Given the description of an element on the screen output the (x, y) to click on. 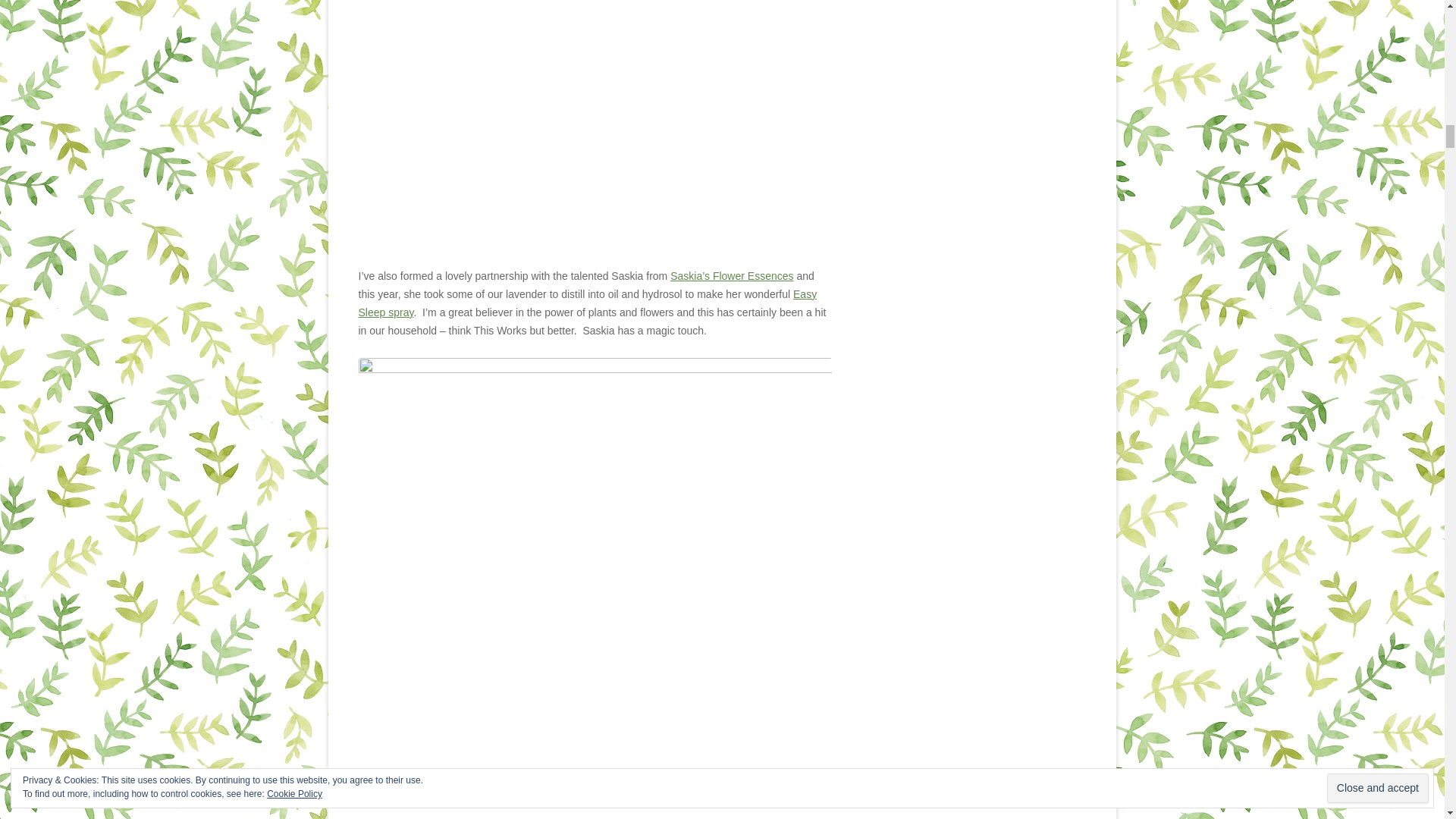
Easy Sleep spray (587, 303)
